Given the description of an element on the screen output the (x, y) to click on. 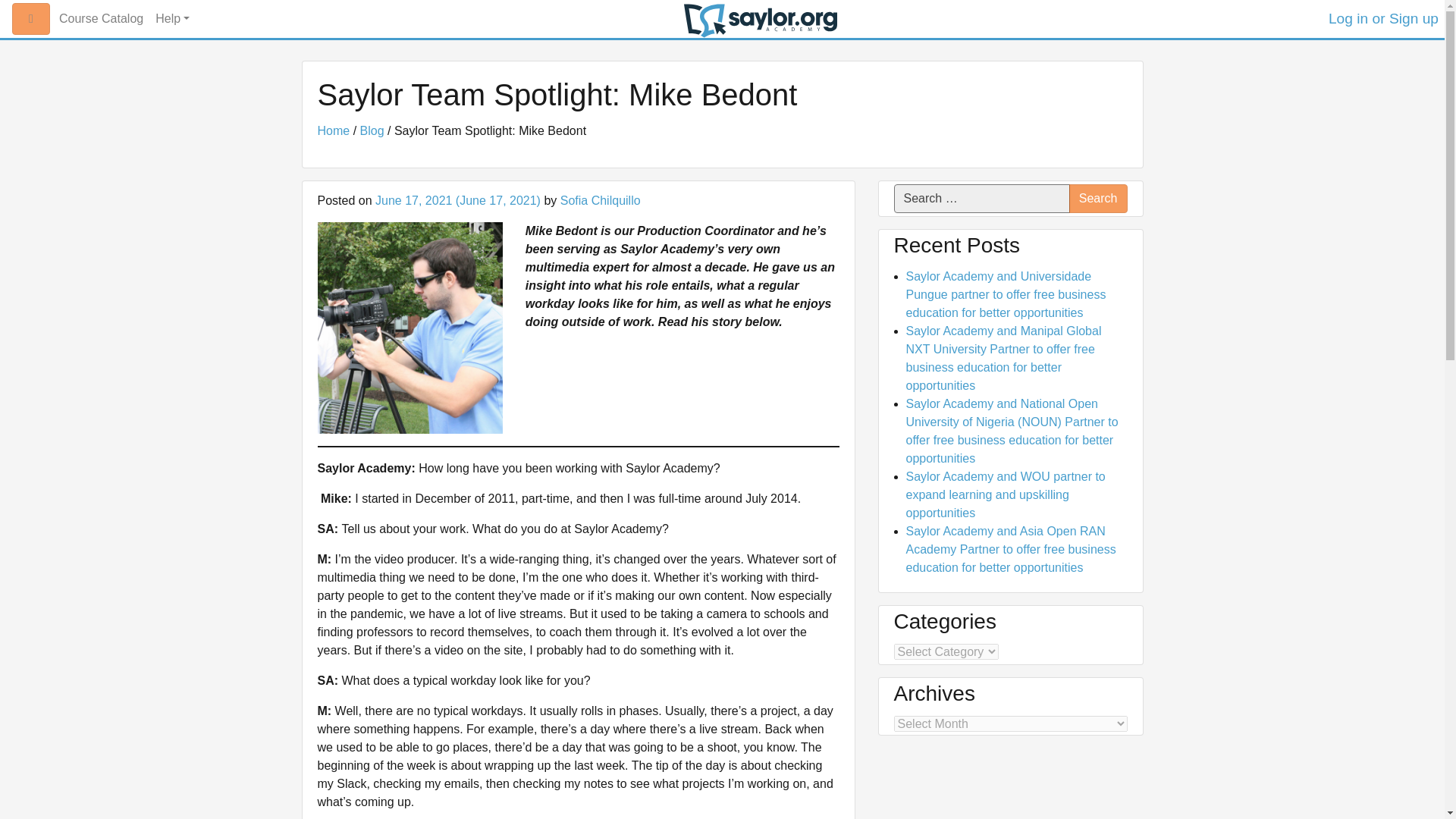
Help (172, 19)
Course Catalog (100, 19)
Search (1097, 198)
Sofia Chilquillo (600, 200)
Home (333, 130)
Search (1097, 198)
Log in or Sign up (1382, 18)
